Given the description of an element on the screen output the (x, y) to click on. 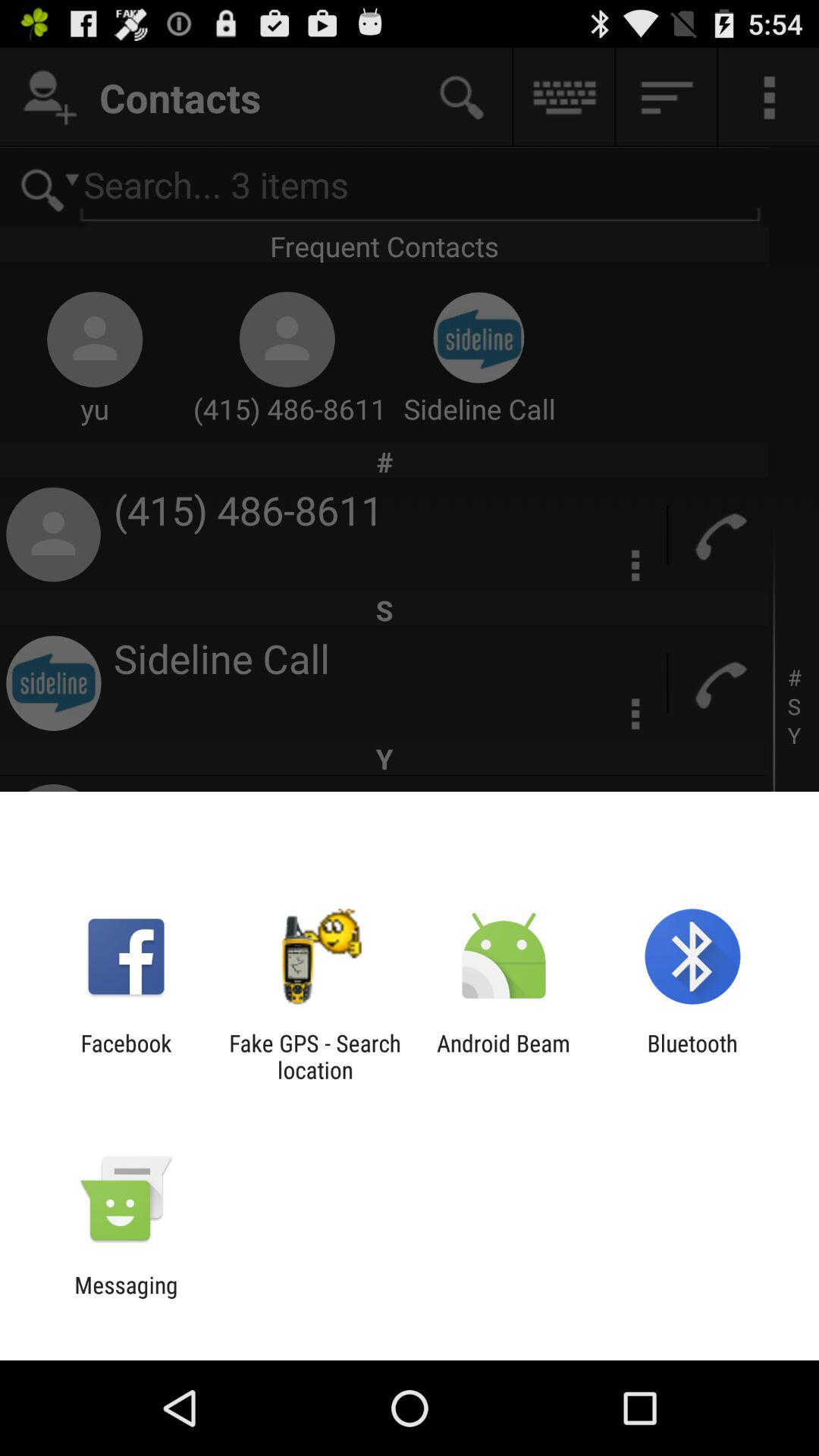
turn on icon next to android beam app (692, 1056)
